Given the description of an element on the screen output the (x, y) to click on. 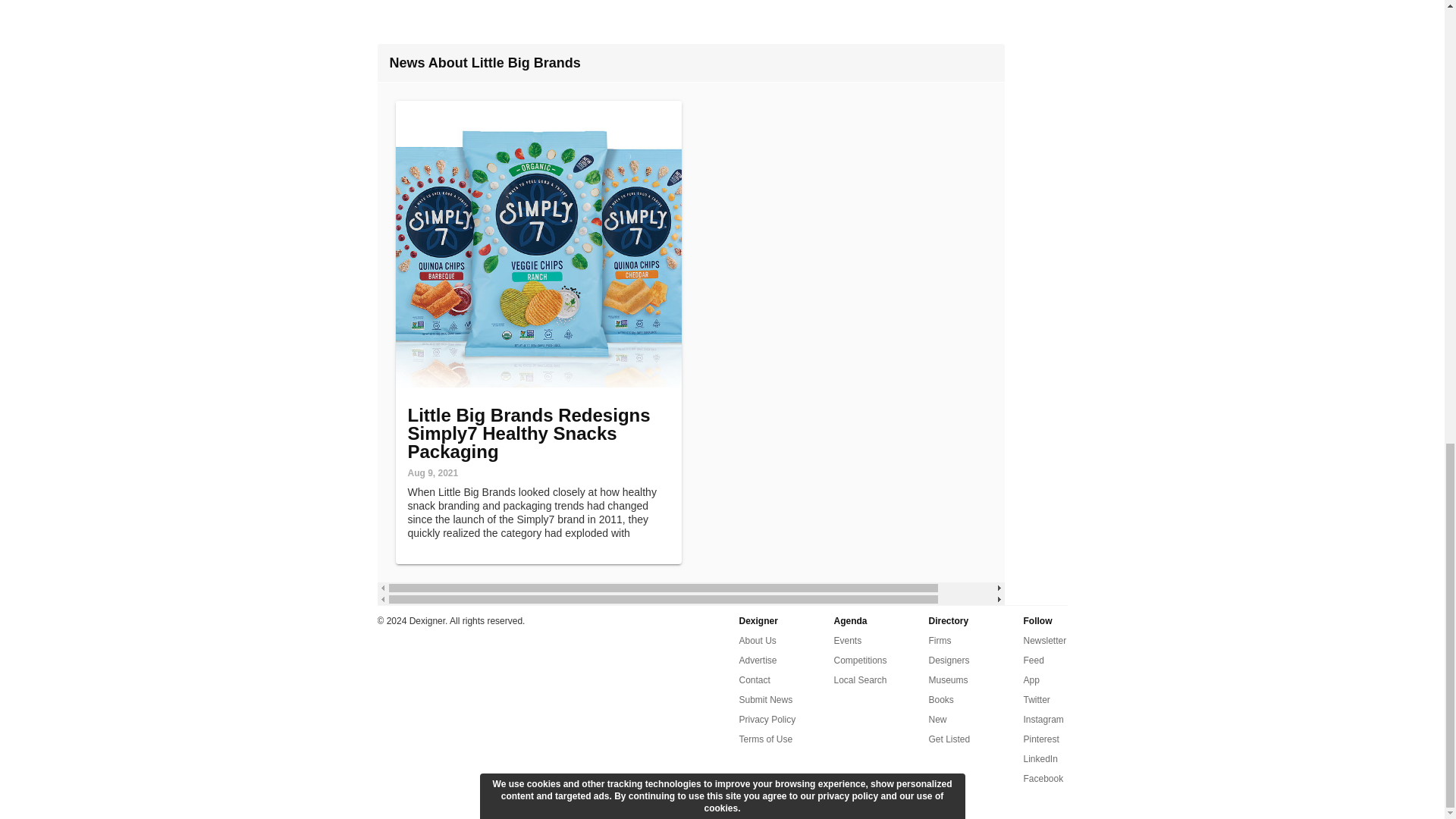
About Us (757, 640)
Terms of Use (765, 739)
Advertisement (722, 8)
Contact (754, 679)
Privacy Policy (766, 719)
Advertise (757, 660)
Submit News (765, 700)
